Given the description of an element on the screen output the (x, y) to click on. 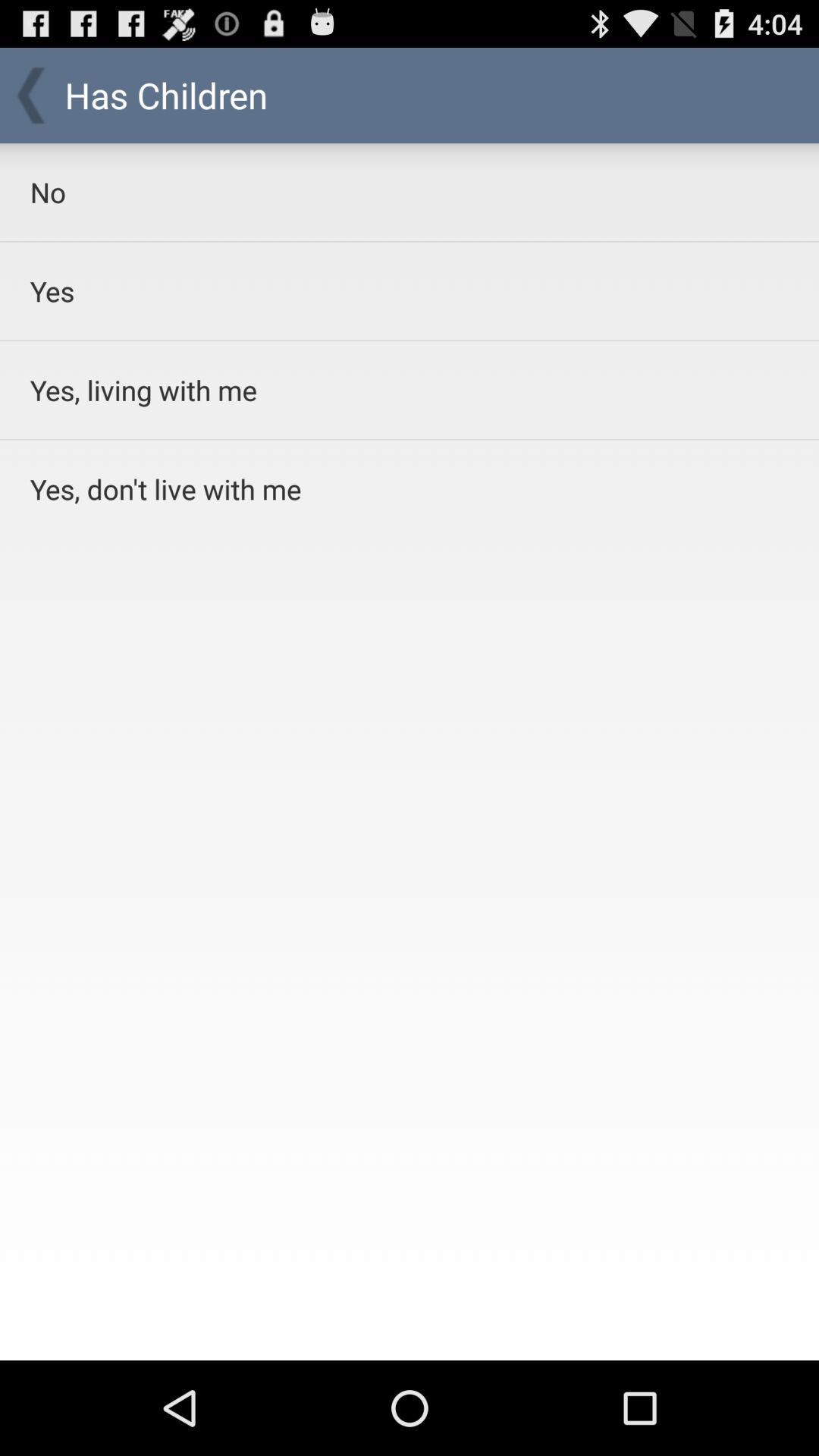
press the app above the yes (371, 192)
